Given the description of an element on the screen output the (x, y) to click on. 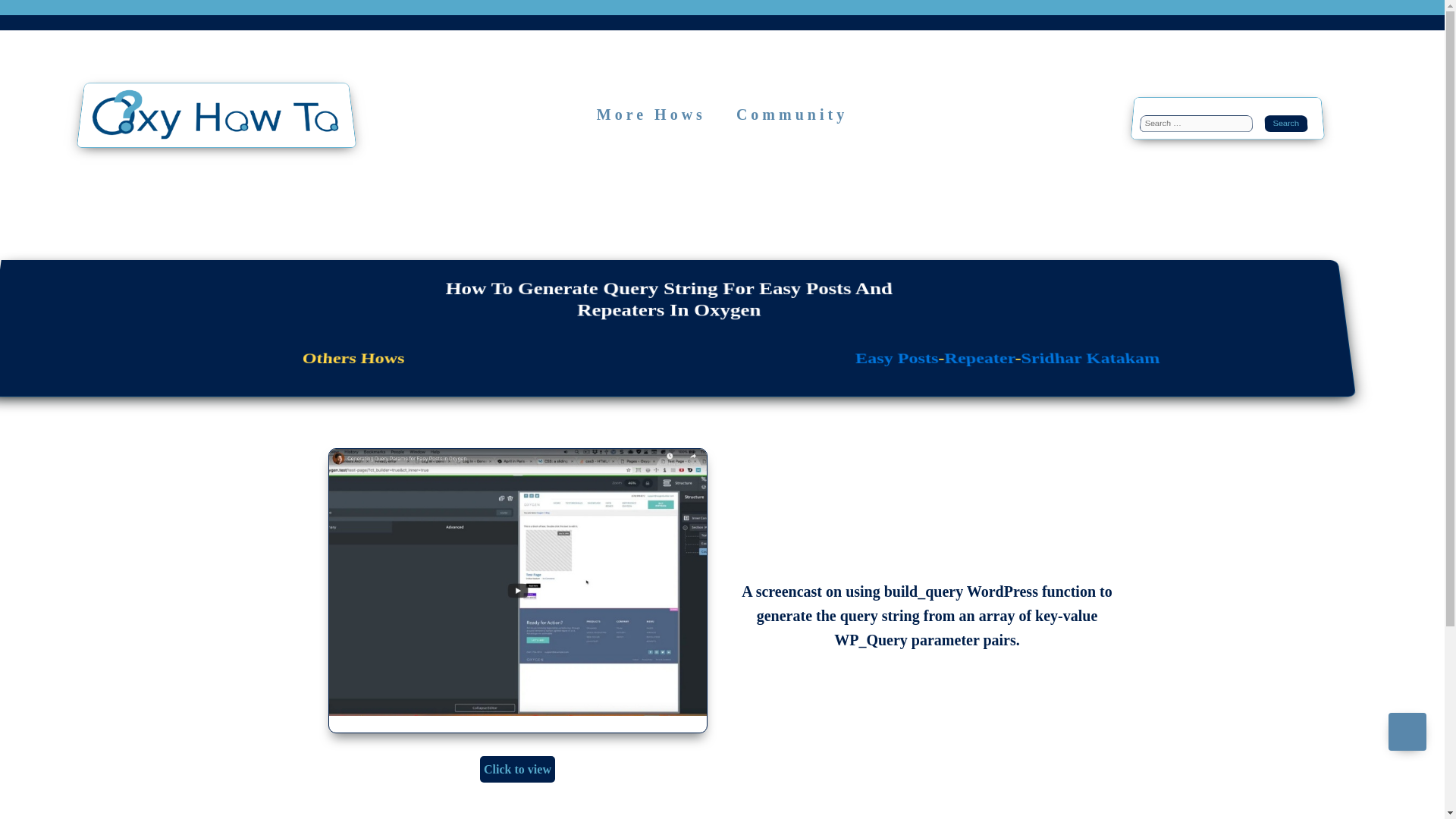
Search (1296, 128)
More Hows (650, 114)
Repeater (978, 359)
Search (1296, 128)
Click to view (517, 768)
Easy Posts (896, 359)
Search (1296, 128)
Community (791, 114)
Sridhar Katakam (1089, 359)
